Given the description of an element on the screen output the (x, y) to click on. 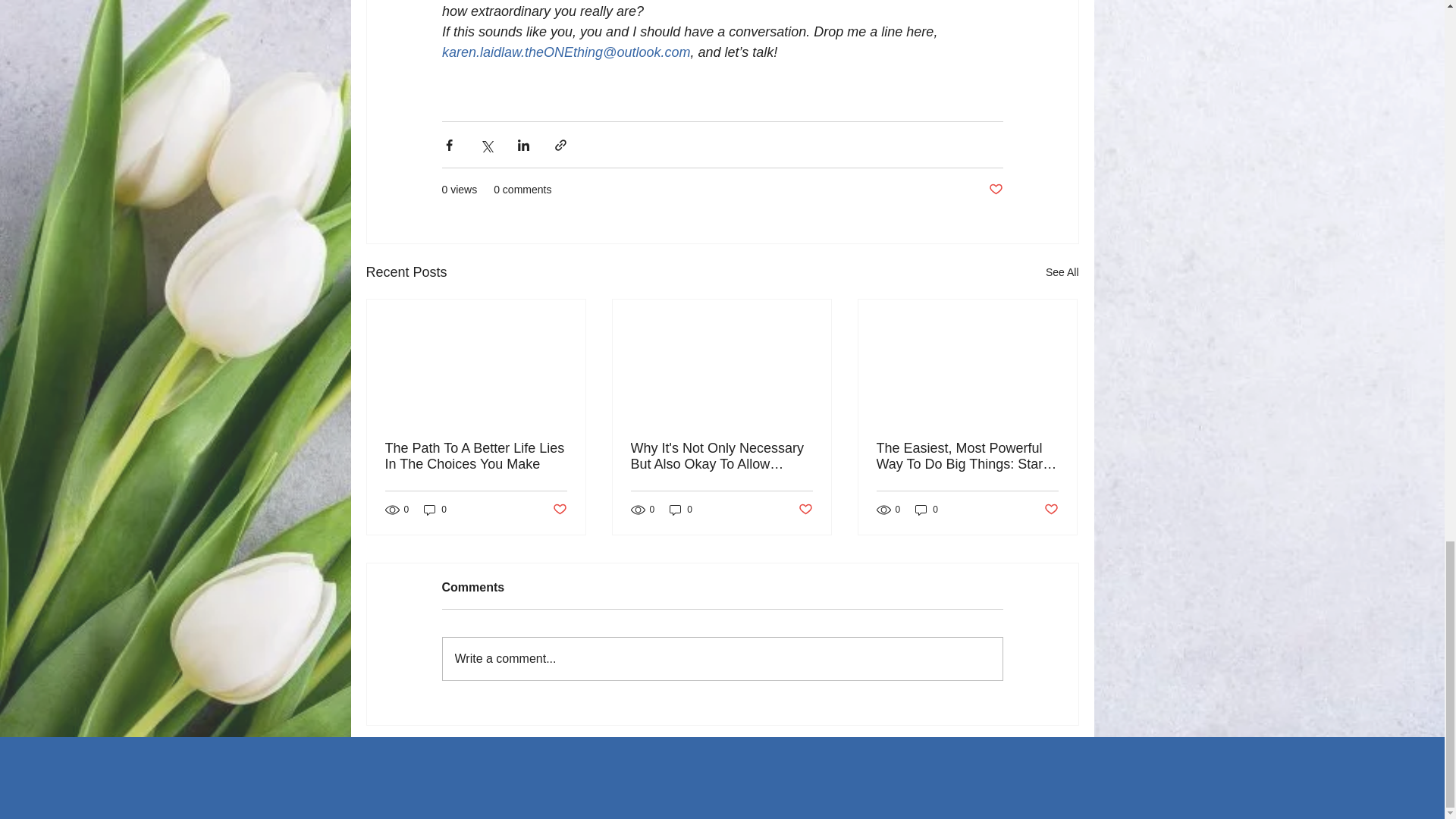
The Path To A Better Life Lies In The Choices You Make (476, 456)
Post not marked as liked (1050, 509)
0 (435, 509)
The Easiest, Most Powerful Way To Do Big Things: Start Small (967, 456)
Post not marked as liked (558, 509)
Post not marked as liked (804, 509)
See All (1061, 272)
0 (681, 509)
Write a comment... (722, 659)
Post not marked as liked (995, 189)
0 (926, 509)
